Given the description of an element on the screen output the (x, y) to click on. 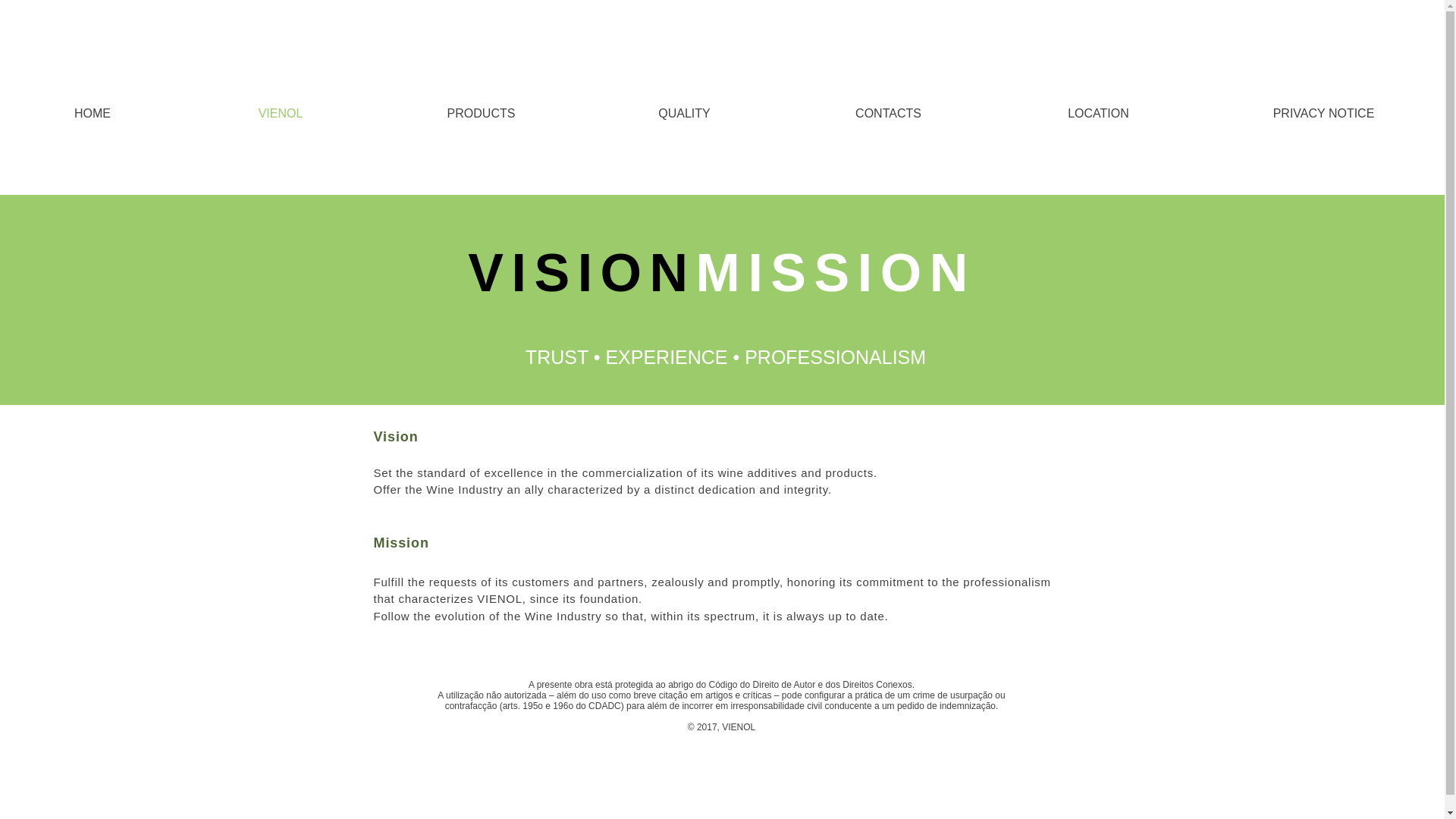
HOME (92, 113)
VIENOL (279, 113)
QUALITY (684, 113)
PRODUCTS (480, 113)
LOCATION (1098, 113)
CONTACTS (888, 113)
